Given the description of an element on the screen output the (x, y) to click on. 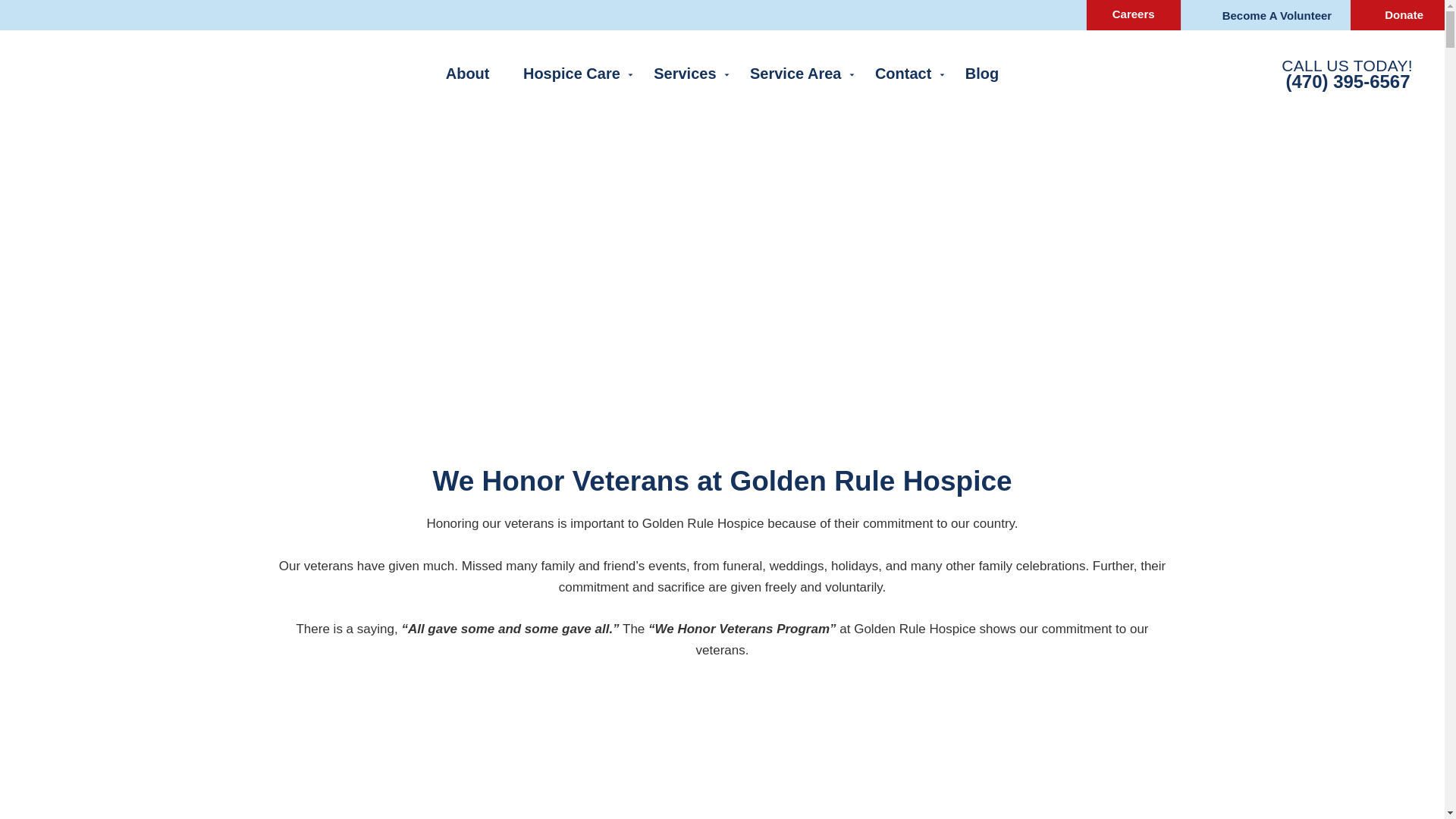
Services (684, 72)
Service Area (795, 72)
Contact (903, 72)
Hospice Care (571, 72)
About (467, 72)
Careers (1133, 15)
Become A Volunteer (1265, 15)
